Given the description of an element on the screen output the (x, y) to click on. 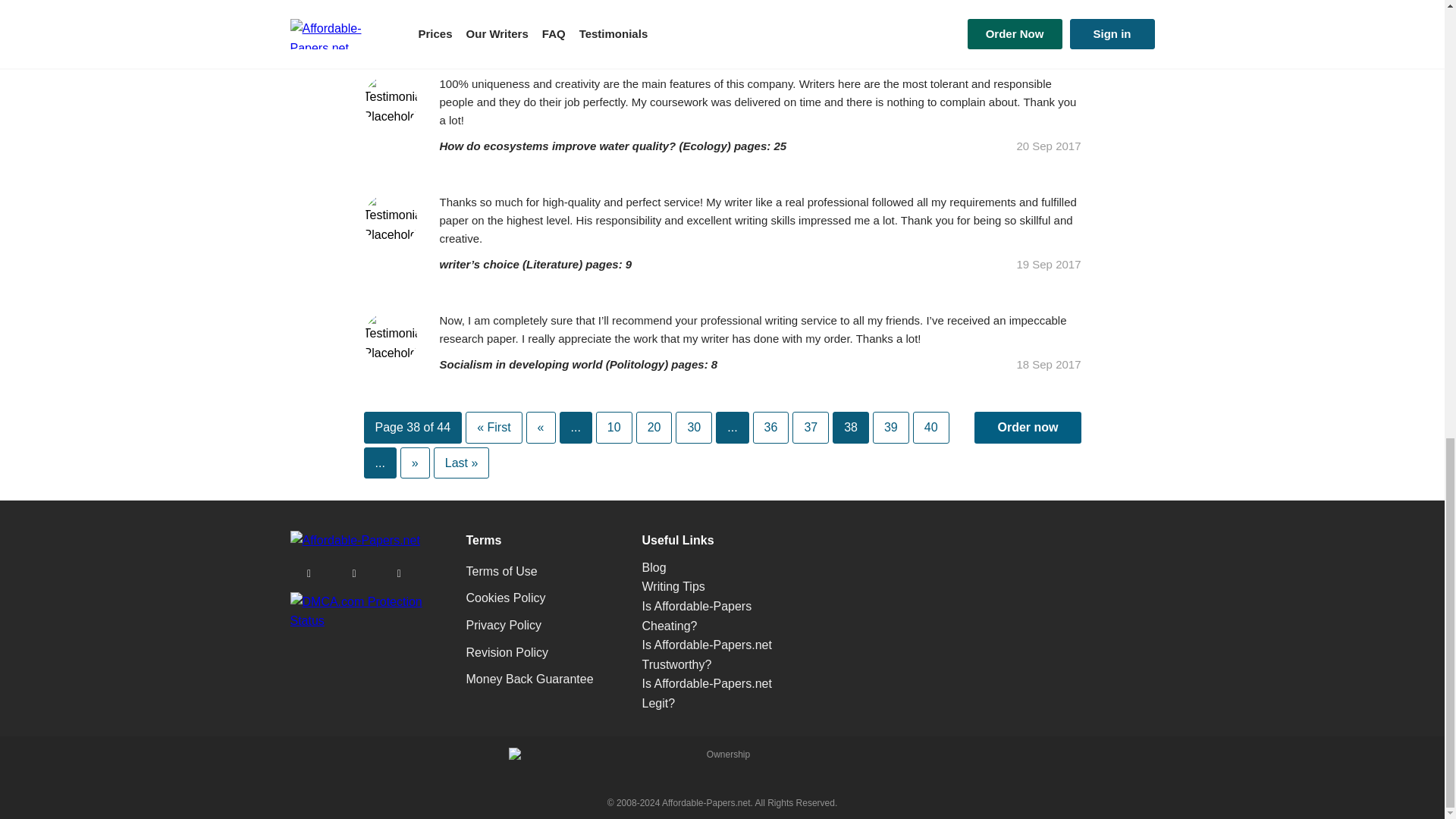
Page 36 (770, 427)
Page 20 (654, 427)
Cookies Policy (504, 597)
20 (654, 427)
10 (613, 427)
Affordable-Papers.net (354, 540)
40 (930, 427)
Is Affordable-Papers.net Trustworthy? (706, 654)
30 (693, 427)
Page 39 (890, 427)
Follow us at Instagram (308, 573)
Page 10 (613, 427)
Page 40 (930, 427)
Privacy Policy (503, 624)
Revision Policy (506, 652)
